Given the description of an element on the screen output the (x, y) to click on. 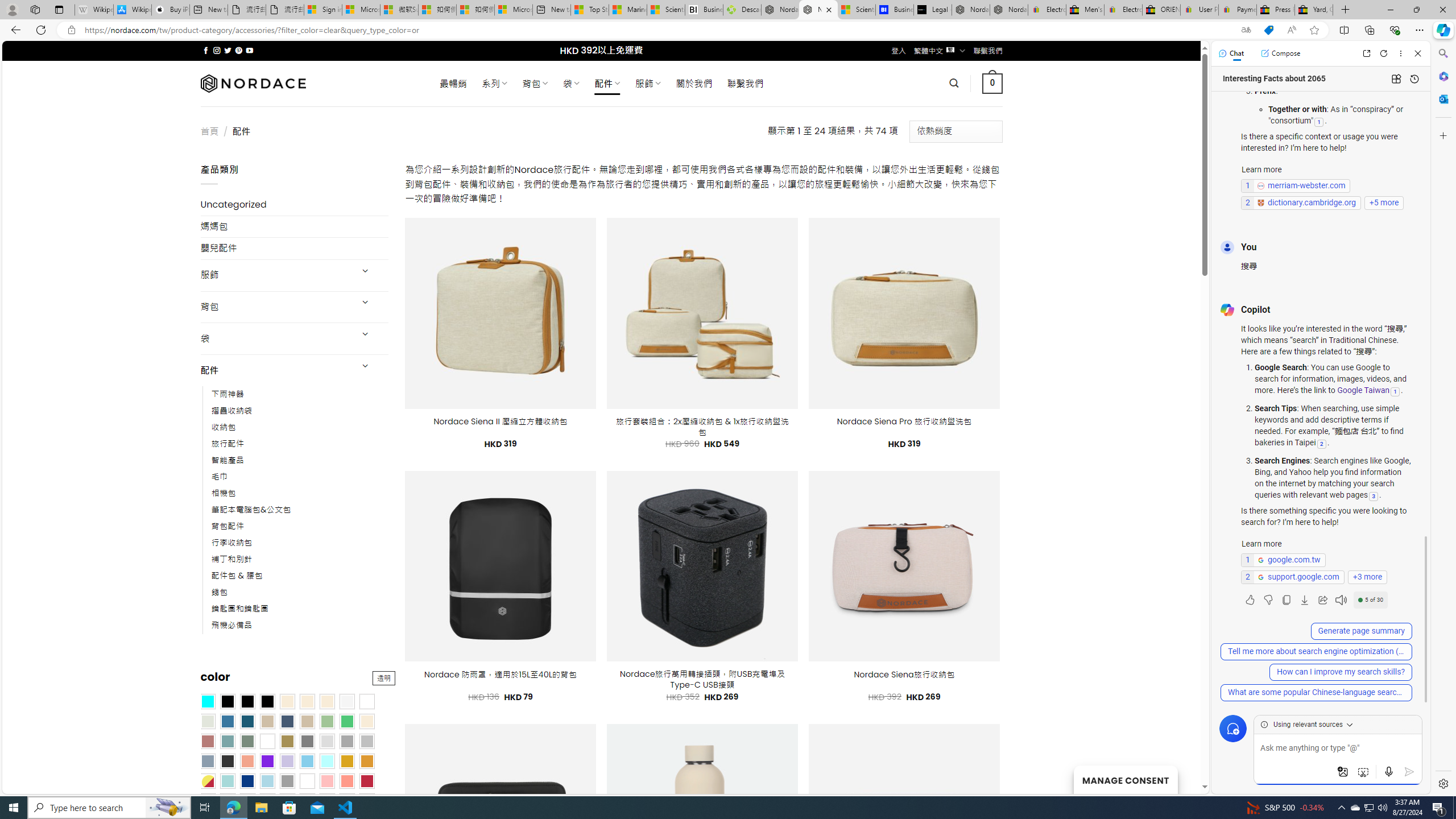
Press Room - eBay Inc. (1276, 9)
Payments Terms of Use | eBay.com (1237, 9)
Top Stories - MSN (589, 9)
